Given the description of an element on the screen output the (x, y) to click on. 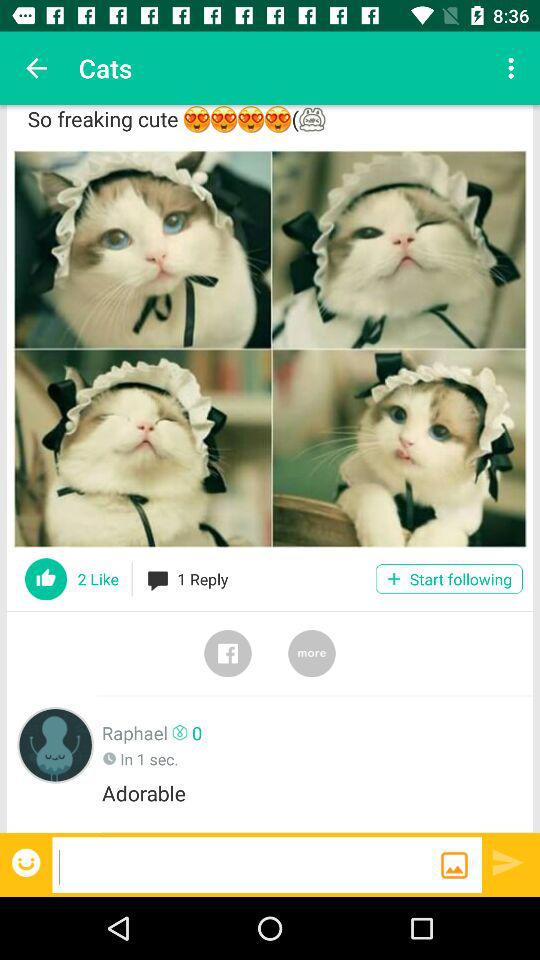
enter (508, 862)
